Given the description of an element on the screen output the (x, y) to click on. 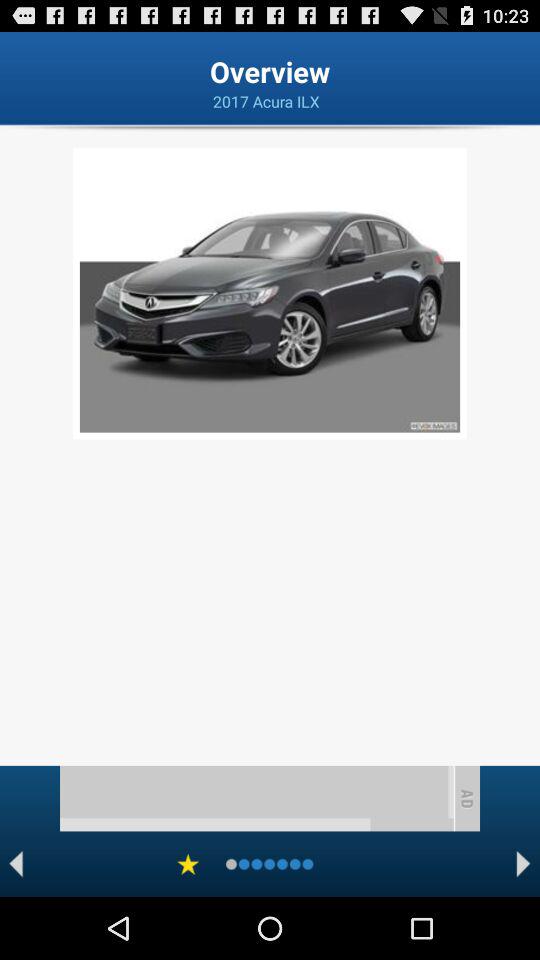
go back to previous image (16, 864)
